Given the description of an element on the screen output the (x, y) to click on. 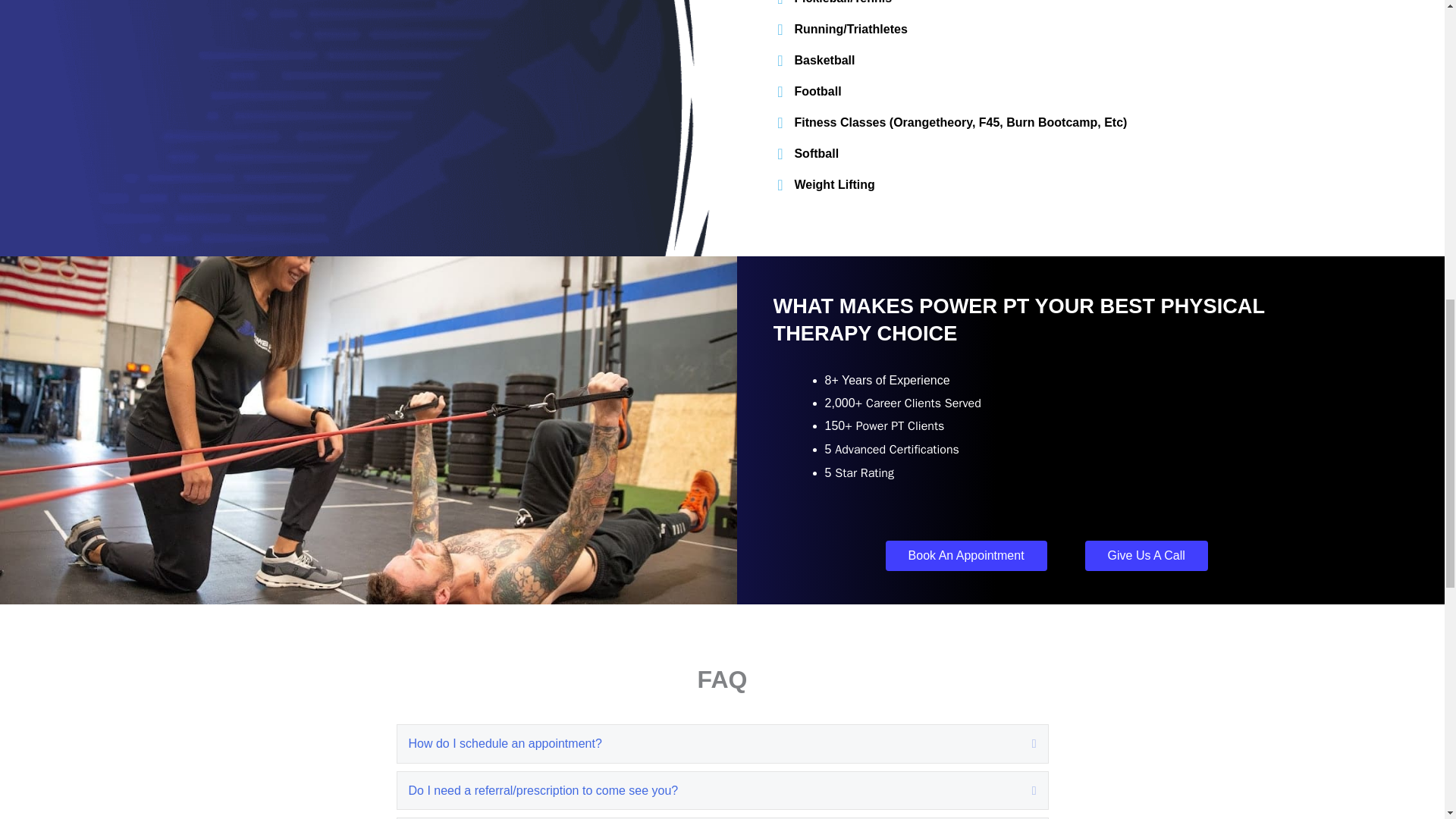
Give Us A Call (1146, 555)
Expand (1022, 743)
Expand (1022, 790)
Book An Appointment (965, 555)
How do I schedule an appointment? (708, 743)
